Given the description of an element on the screen output the (x, y) to click on. 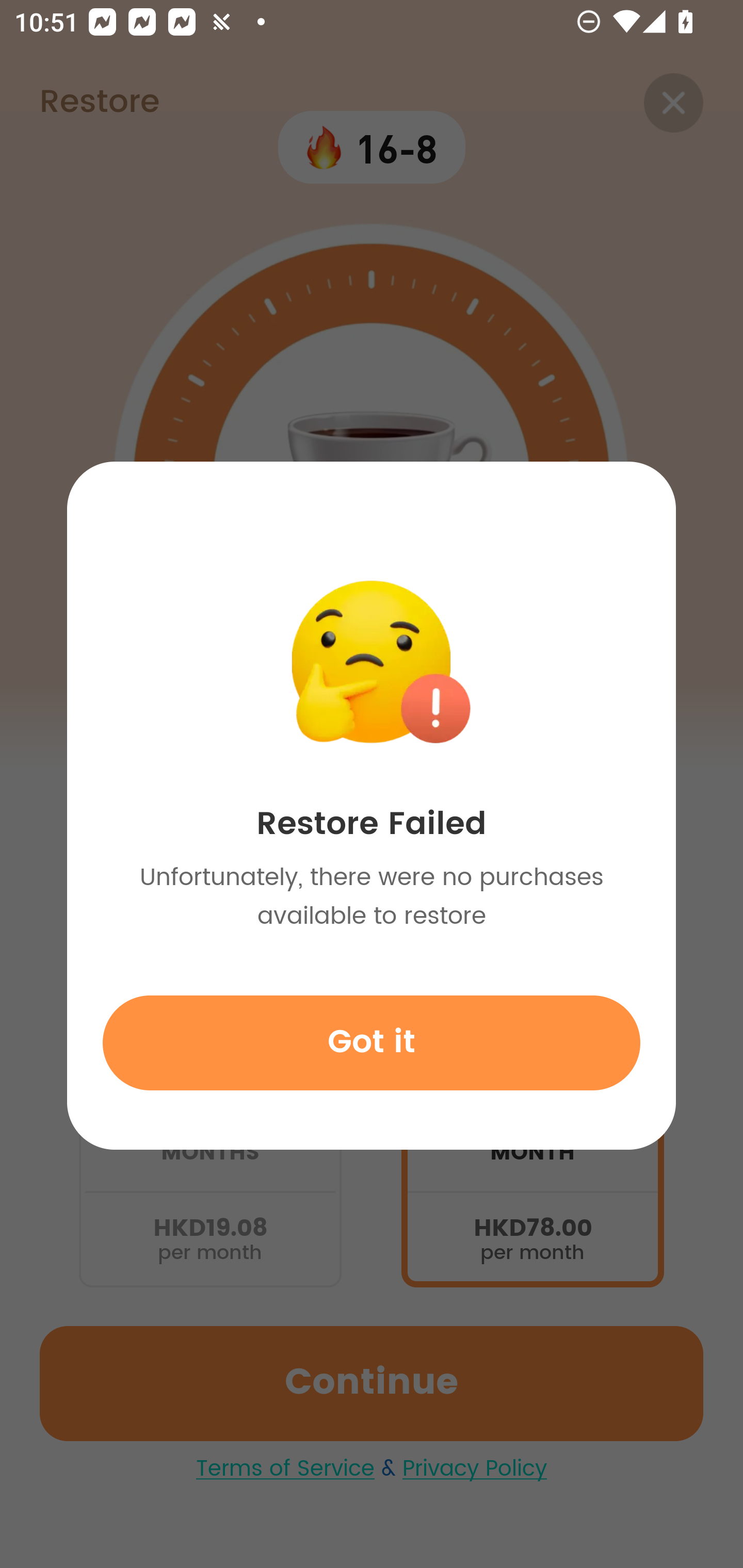
Got it (371, 1042)
